Given the description of an element on the screen output the (x, y) to click on. 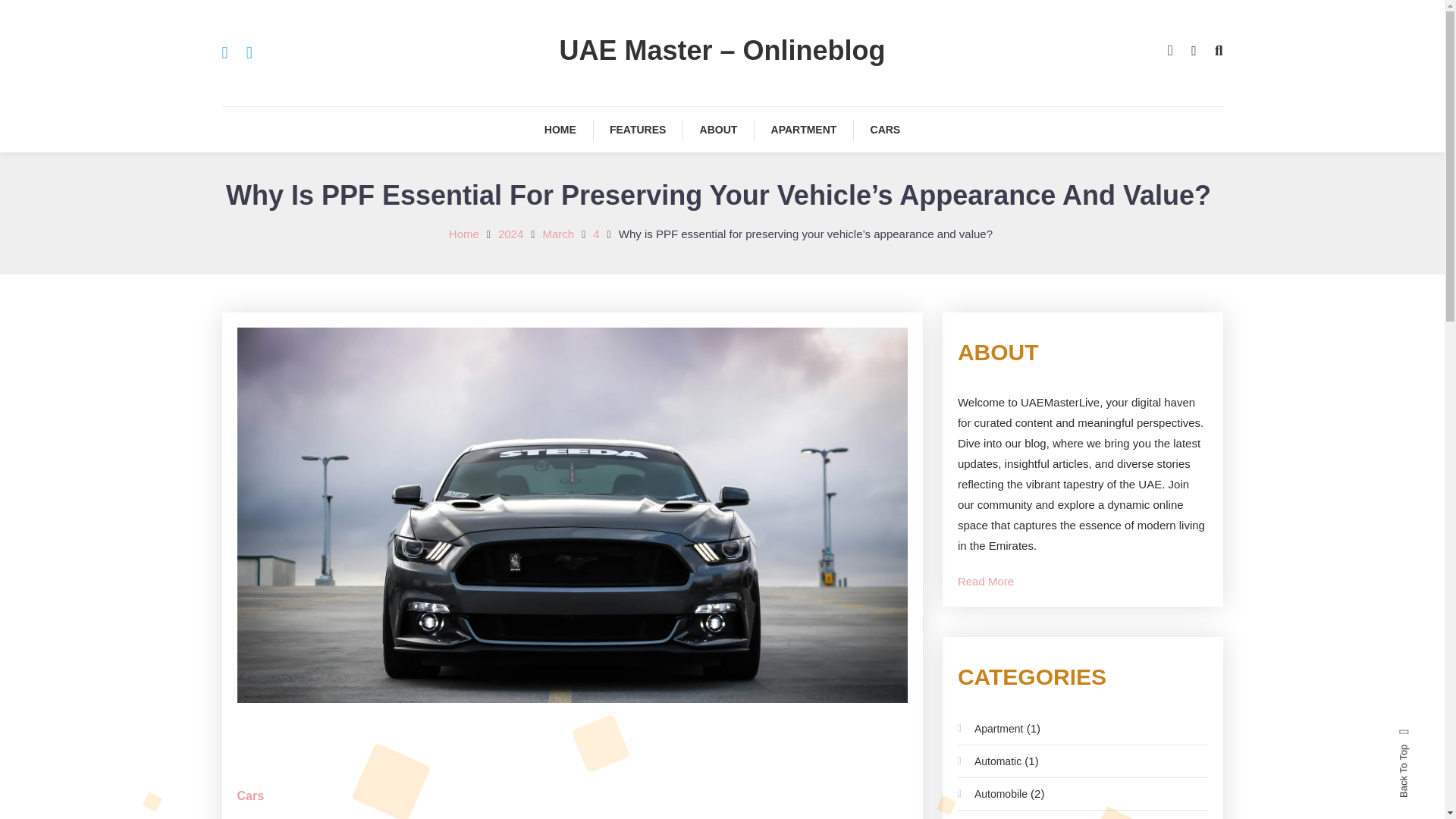
Automatic (990, 761)
FEATURES (637, 129)
Cars (249, 796)
Apartment (990, 728)
2024 (509, 233)
ABOUT (718, 129)
Search (768, 432)
March (557, 233)
HOME (560, 129)
APARTMENT (803, 129)
